Given the description of an element on the screen output the (x, y) to click on. 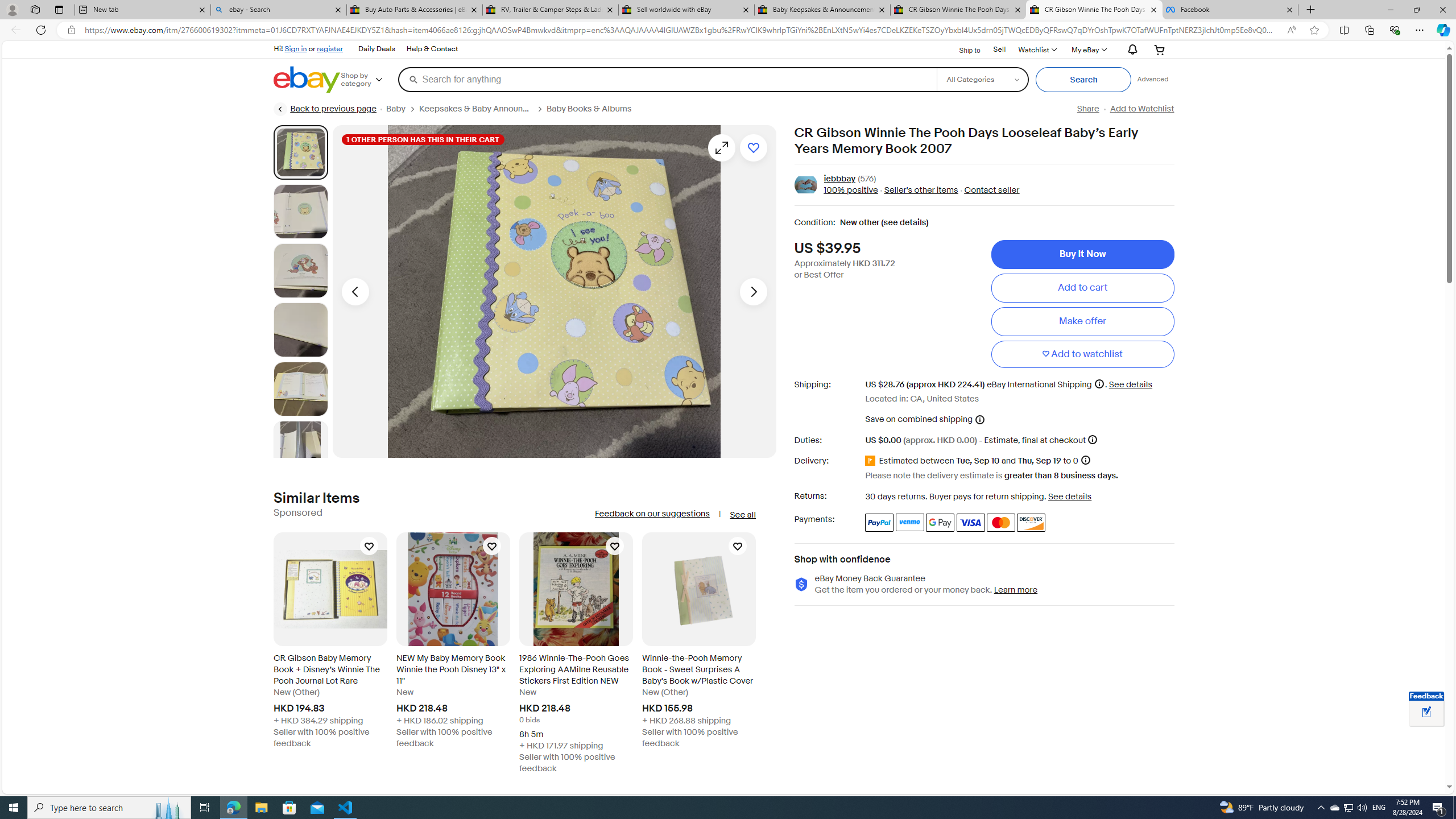
Add to watchlist (1082, 353)
register (329, 48)
(576) (866, 179)
Select a category for search (981, 78)
Search for anything (666, 78)
Add to cart (1082, 287)
Picture 2 of 22 (300, 211)
Buy Auto Parts & Accessories | eBay (414, 9)
Leave feedback about your eBay ViewItem experience (1426, 713)
